Given the description of an element on the screen output the (x, y) to click on. 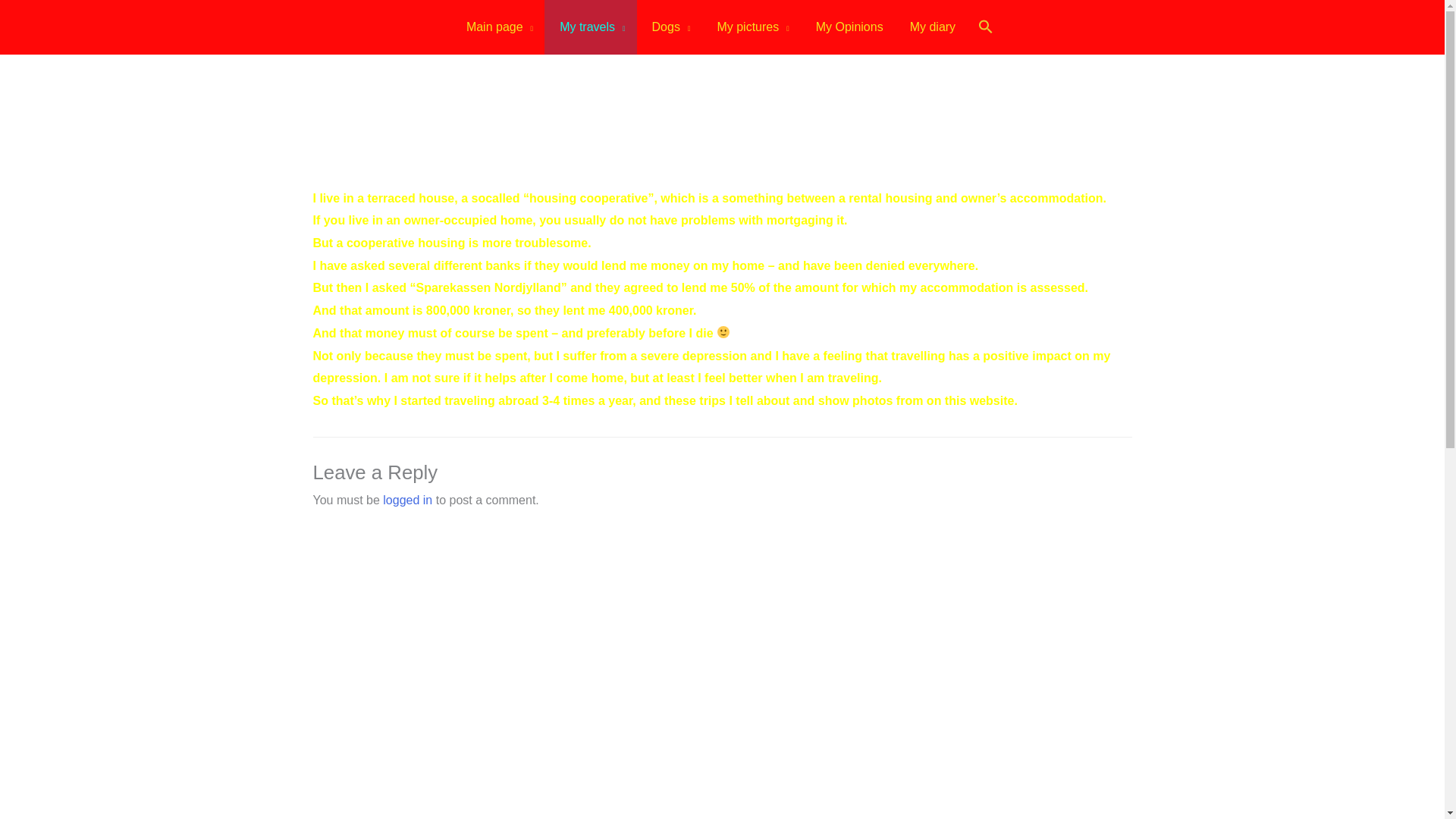
Dogs (669, 27)
Main page (497, 27)
My travels (590, 27)
